Given the description of an element on the screen output the (x, y) to click on. 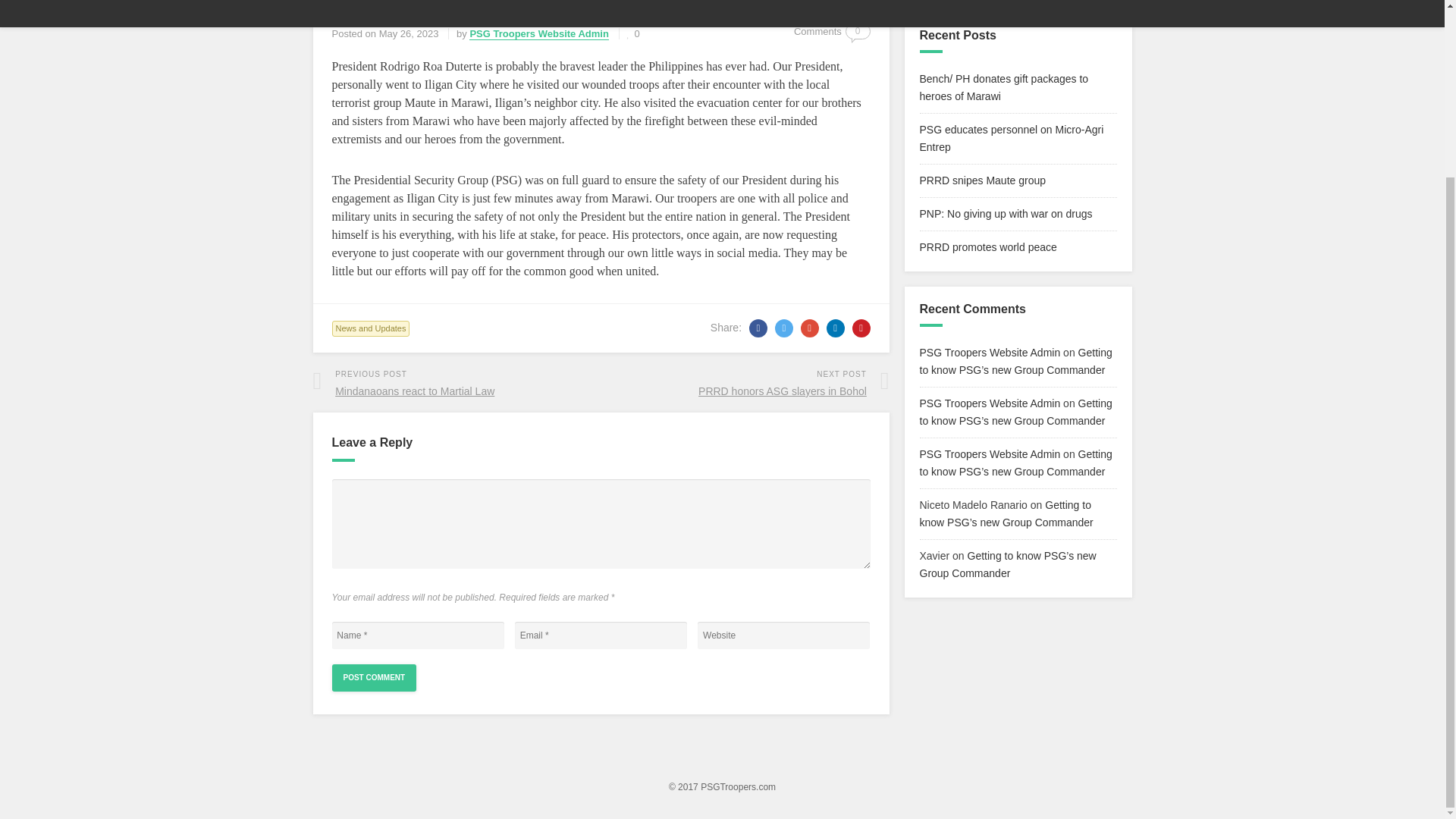
Post Comment (373, 677)
PSGTroopers.com (738, 787)
PRRD promotes world peace (987, 246)
PSG Troopers Website Admin (988, 453)
Post Comment (373, 677)
PSG Troopers Website Admin (988, 352)
News and Updates (747, 382)
PNP: No giving up with war on drugs (453, 382)
0 (370, 328)
PRRD snipes Maute group (1005, 214)
Like this (857, 31)
0 (981, 180)
PSG Troopers Website Admin (633, 33)
